Given the description of an element on the screen output the (x, y) to click on. 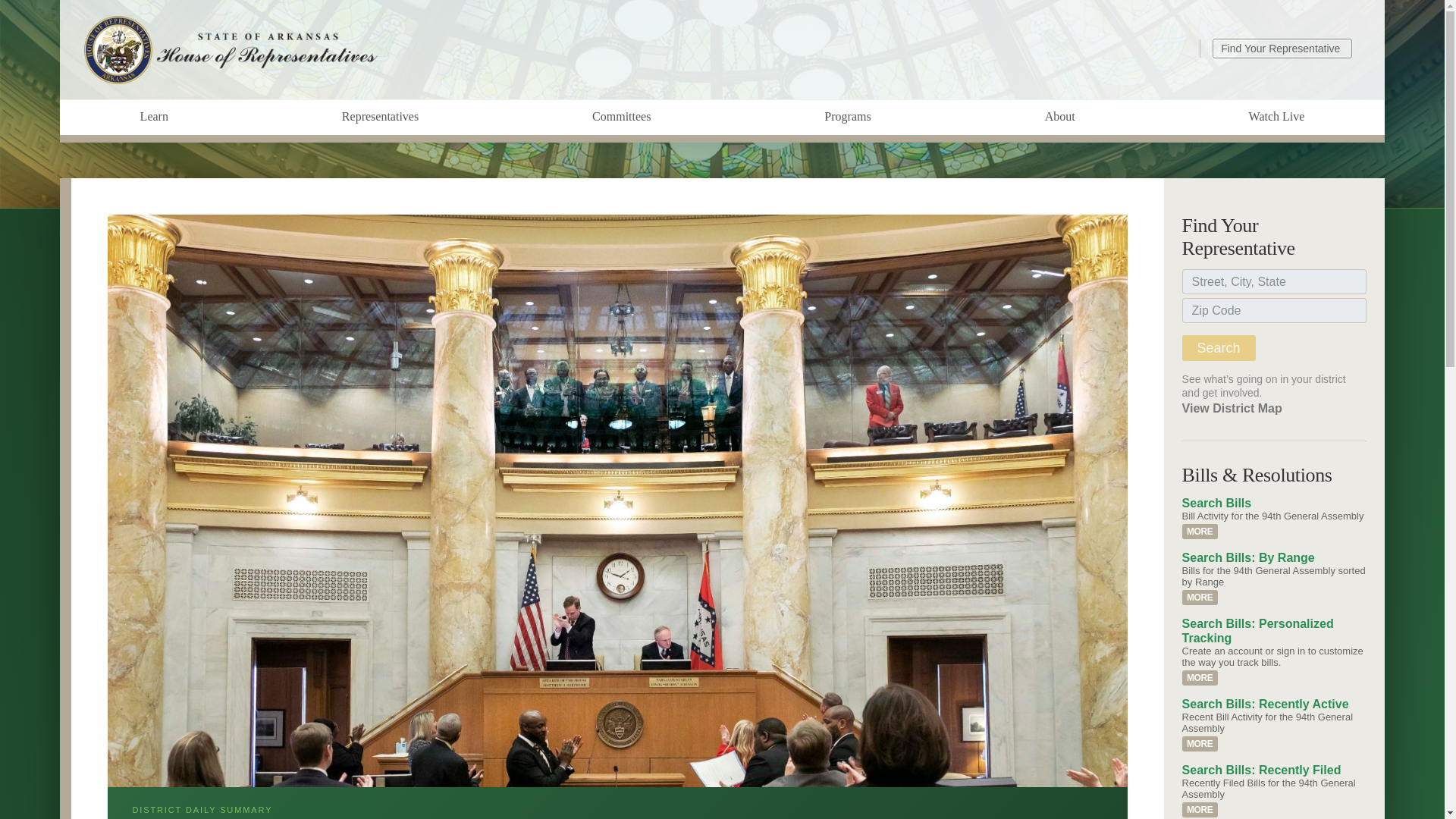
MORE (1199, 743)
MORE (1199, 809)
MORE (1199, 531)
Committees (621, 117)
View District Map (1232, 408)
Permalink (1199, 743)
Find Your Representative (1282, 47)
Permalink (1199, 809)
MORE (1199, 677)
Representatives (379, 117)
Permalink (1199, 531)
About (1059, 117)
Watch Live (1276, 117)
Search (1218, 347)
Permalink (1199, 677)
